Given the description of an element on the screen output the (x, y) to click on. 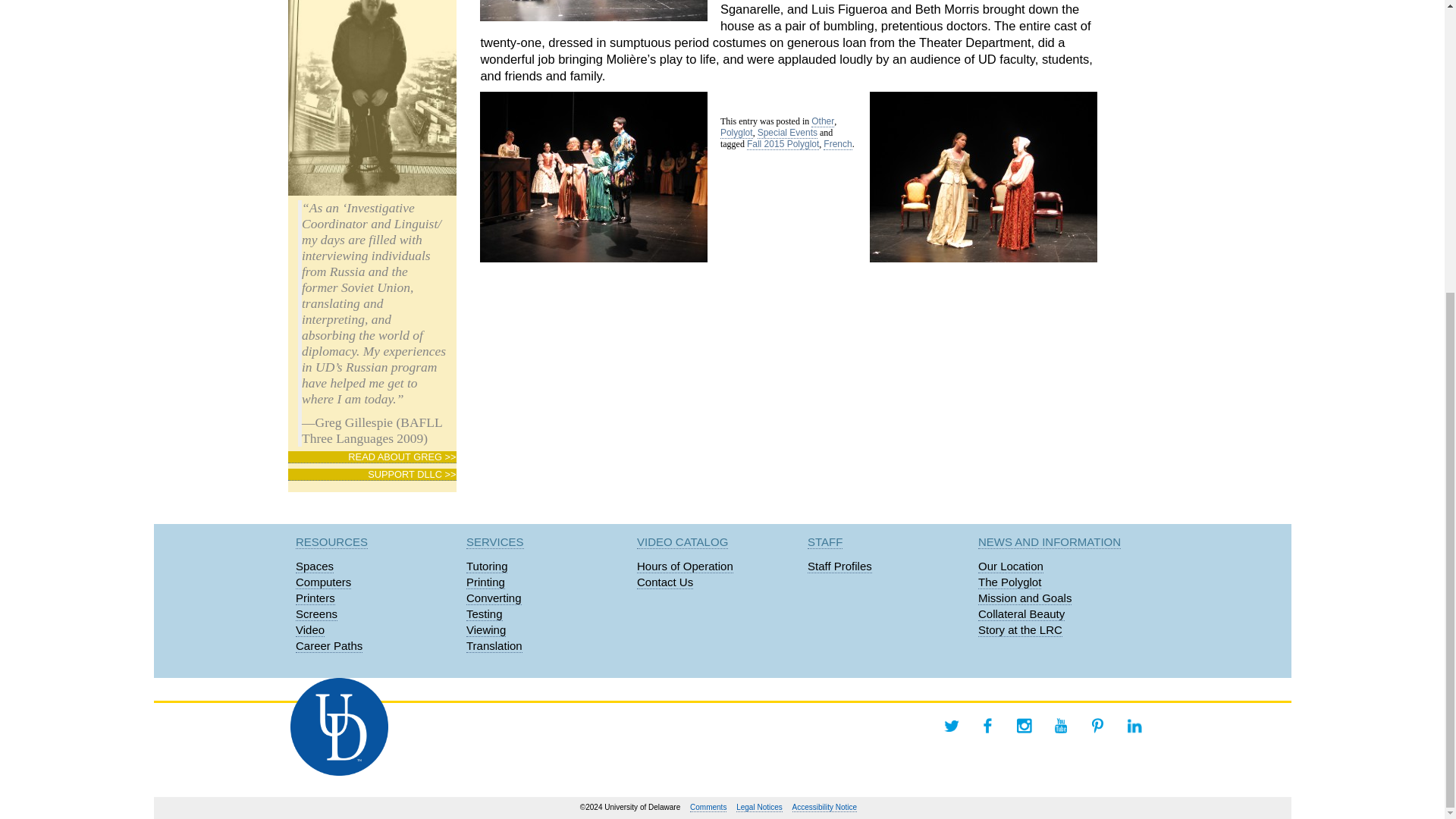
Instagram (1024, 725)
Twitter (951, 725)
Youtube (1060, 725)
Pinterest (1097, 725)
Facebook (987, 725)
Facebook (987, 725)
Pinterest (1096, 725)
Youtube (1060, 725)
Instagram (1024, 725)
Linkedin (1133, 725)
Linkedin (1134, 725)
Twitter (951, 725)
